Given the description of an element on the screen output the (x, y) to click on. 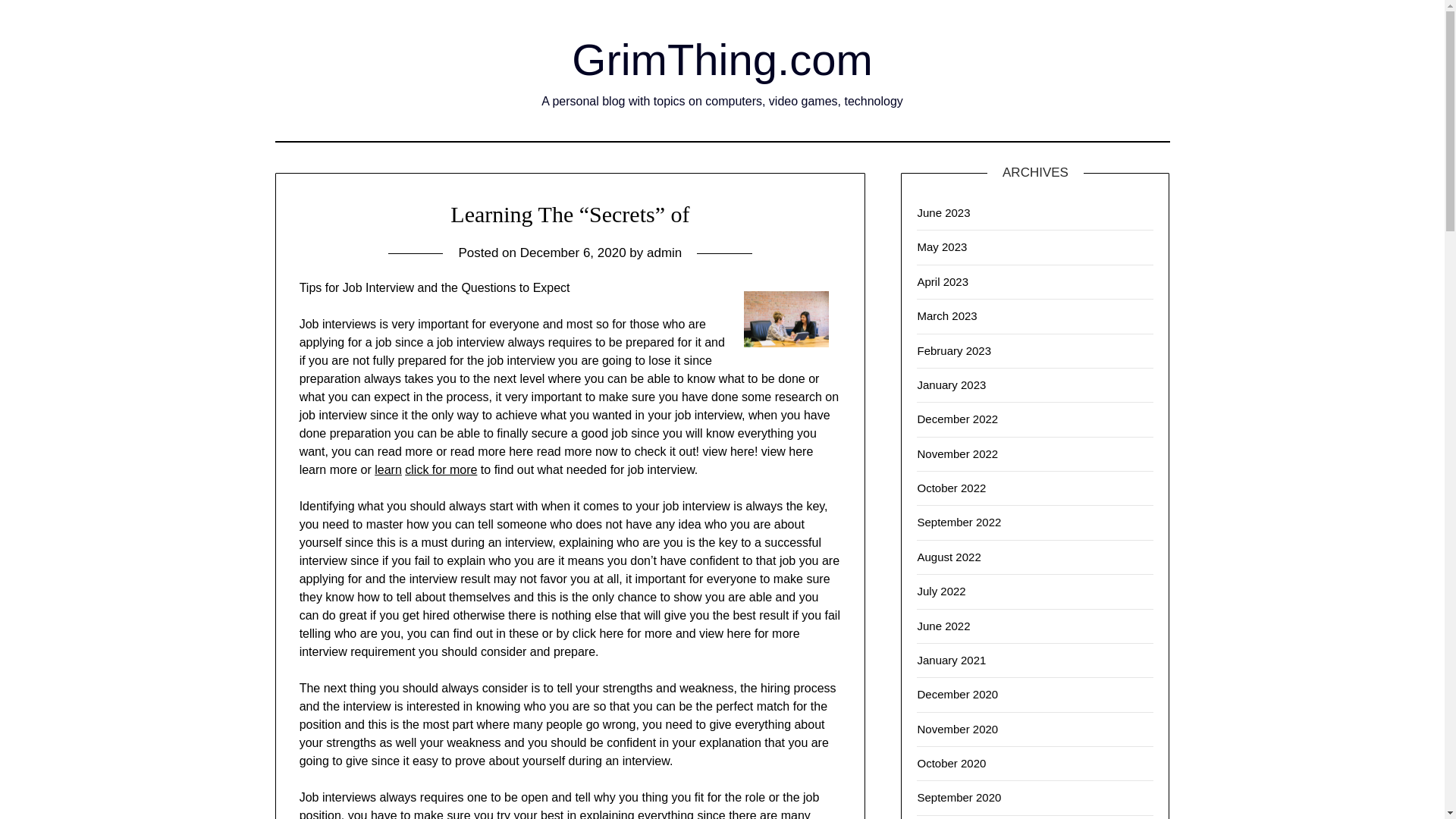
December 2022 (957, 418)
April 2023 (942, 281)
admin (663, 252)
June 2023 (943, 212)
February 2023 (954, 350)
October 2020 (951, 762)
August 2022 (948, 556)
June 2022 (943, 625)
December 2020 (957, 694)
January 2023 (951, 384)
May 2023 (941, 246)
November 2020 (957, 728)
September 2020 (959, 797)
September 2022 (959, 521)
January 2021 (951, 659)
